Given the description of an element on the screen output the (x, y) to click on. 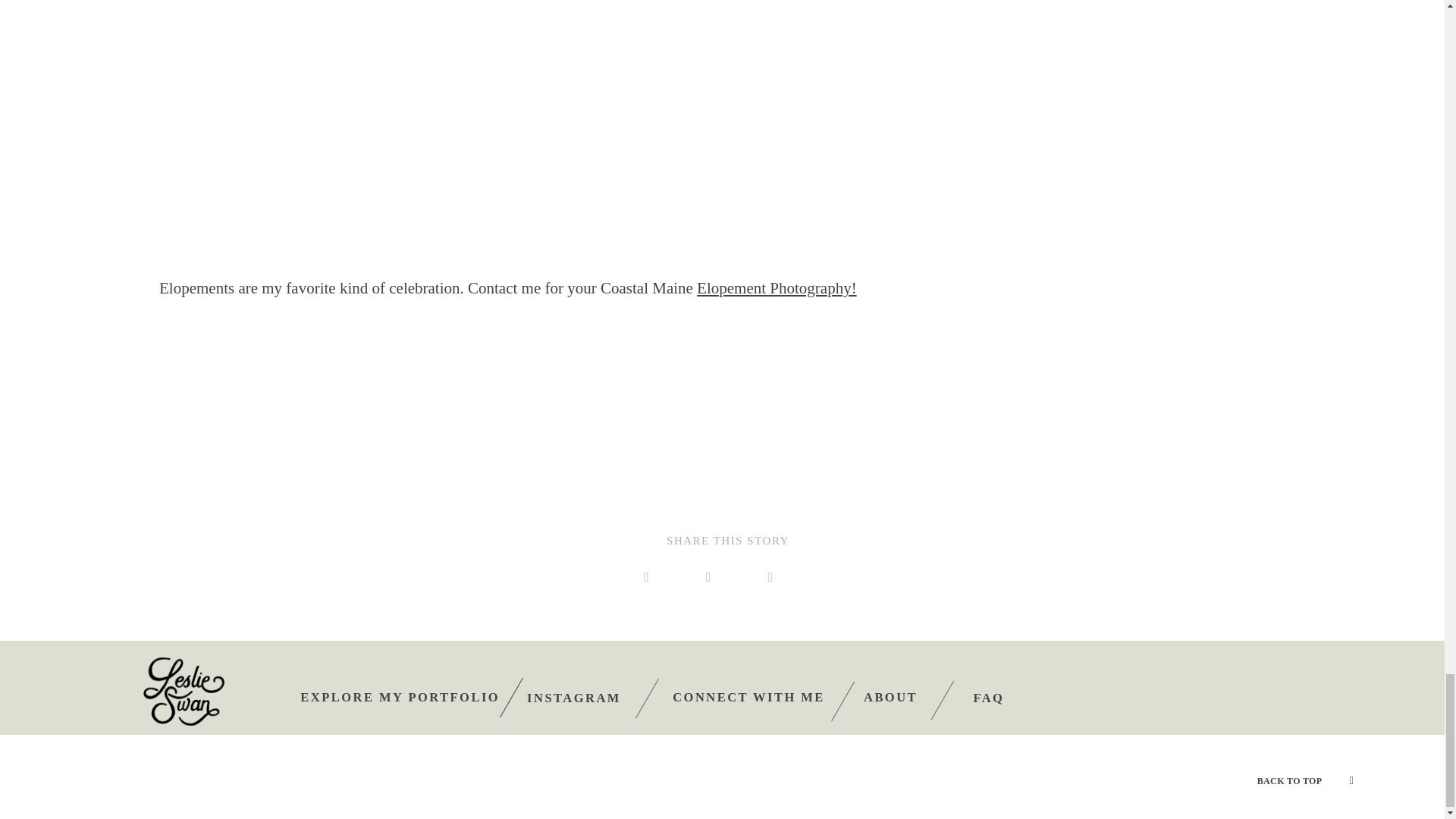
BACK TO TOP (1305, 778)
Elopement Photography! (777, 288)
EXPLORE MY PORTFOLIO (399, 697)
CONNECT WITH ME (748, 697)
BACK TO TOP (1289, 780)
